Given the description of an element on the screen output the (x, y) to click on. 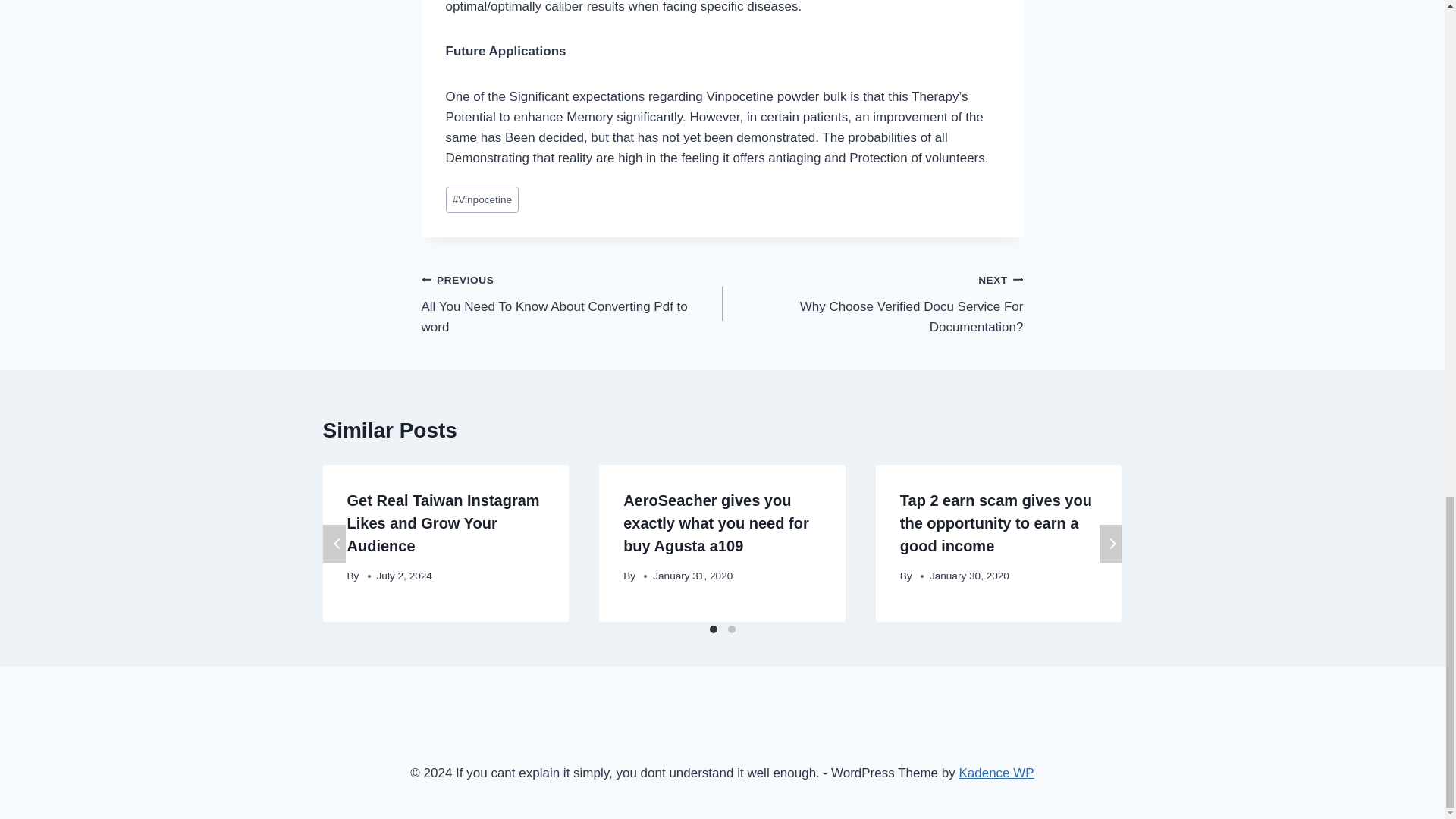
Vinpocetine (482, 199)
Get Real Taiwan Instagram Likes and Grow Your Audience (572, 303)
